Given the description of an element on the screen output the (x, y) to click on. 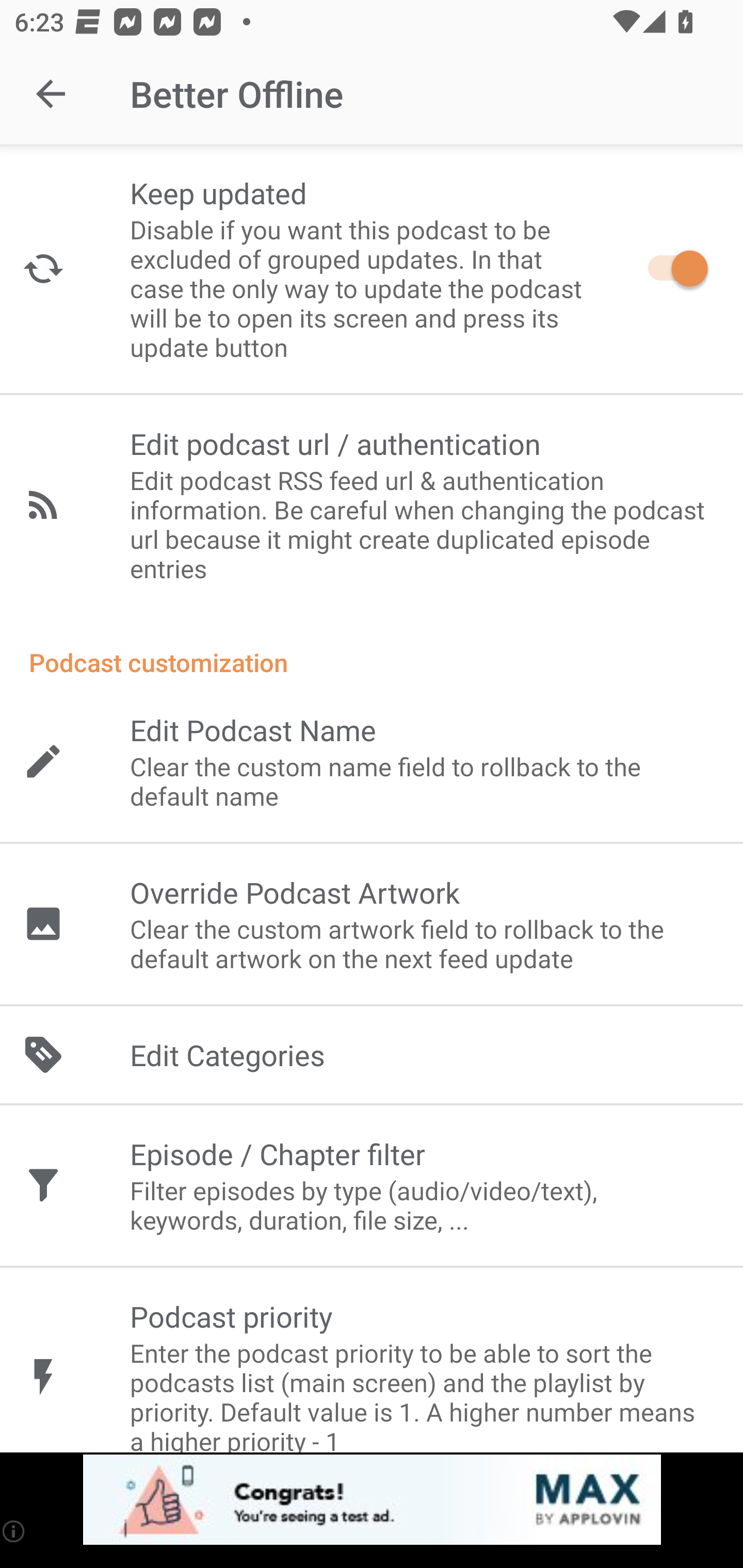
Navigate up (50, 93)
Edit Categories (371, 1054)
app-monetization (371, 1500)
(i) (14, 1531)
